Given the description of an element on the screen output the (x, y) to click on. 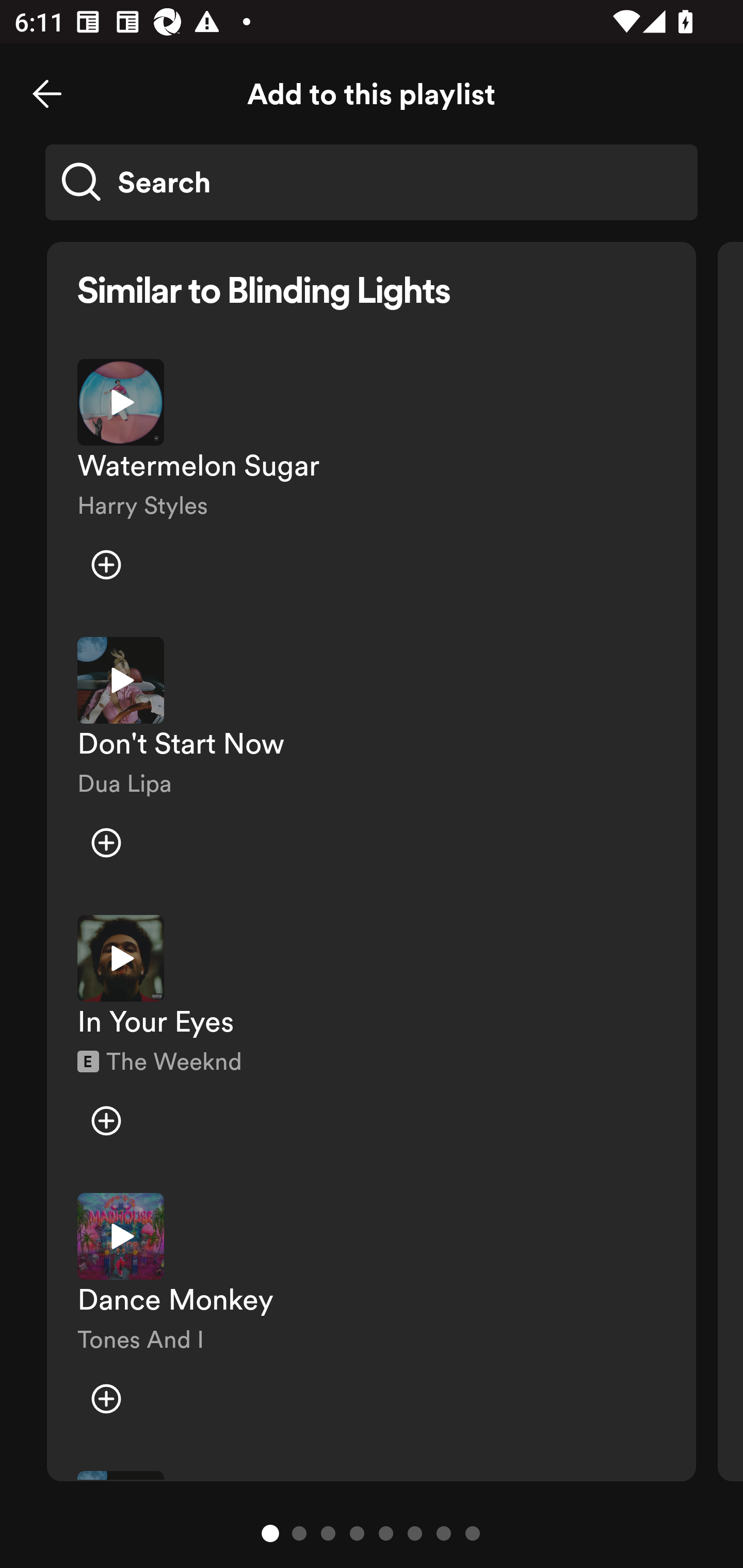
Close (46, 93)
Search (371, 181)
Play preview (120, 402)
Add item (106, 565)
Play preview Don't Start Now Dua Lipa Add item (371, 761)
Play preview (120, 680)
Add item (106, 842)
Play preview (120, 958)
Add item (106, 1120)
Play preview Dance Monkey Tones And I Add item (371, 1317)
Play preview (120, 1236)
Add item (106, 1398)
